Given the description of an element on the screen output the (x, y) to click on. 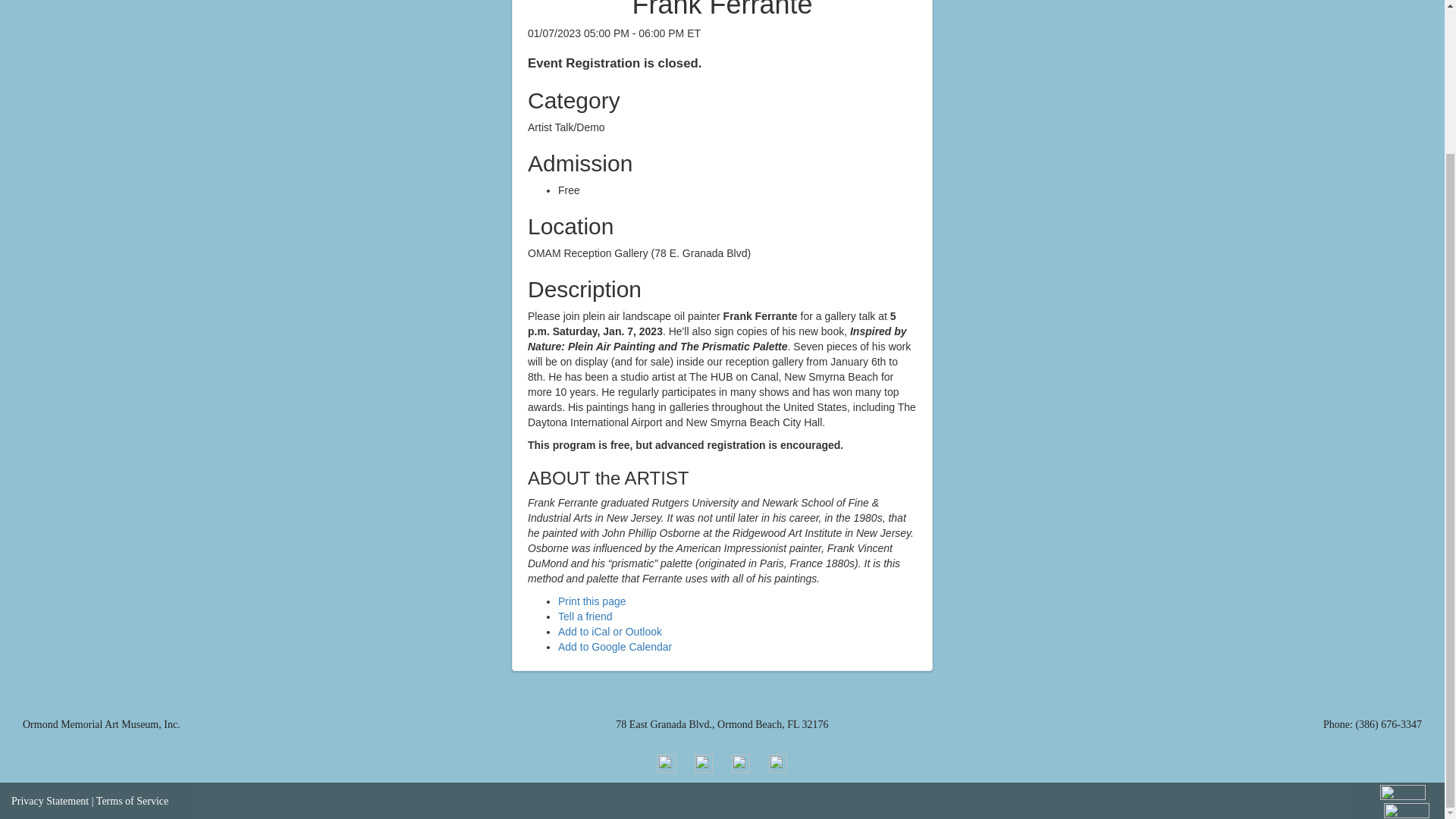
Privacy Statement (49, 800)
Terms of Service (132, 800)
Print this page (591, 601)
Add to Google Calendar (614, 646)
Add to iCal or Outlook (609, 631)
Tell a friend (584, 616)
